Given the description of an element on the screen output the (x, y) to click on. 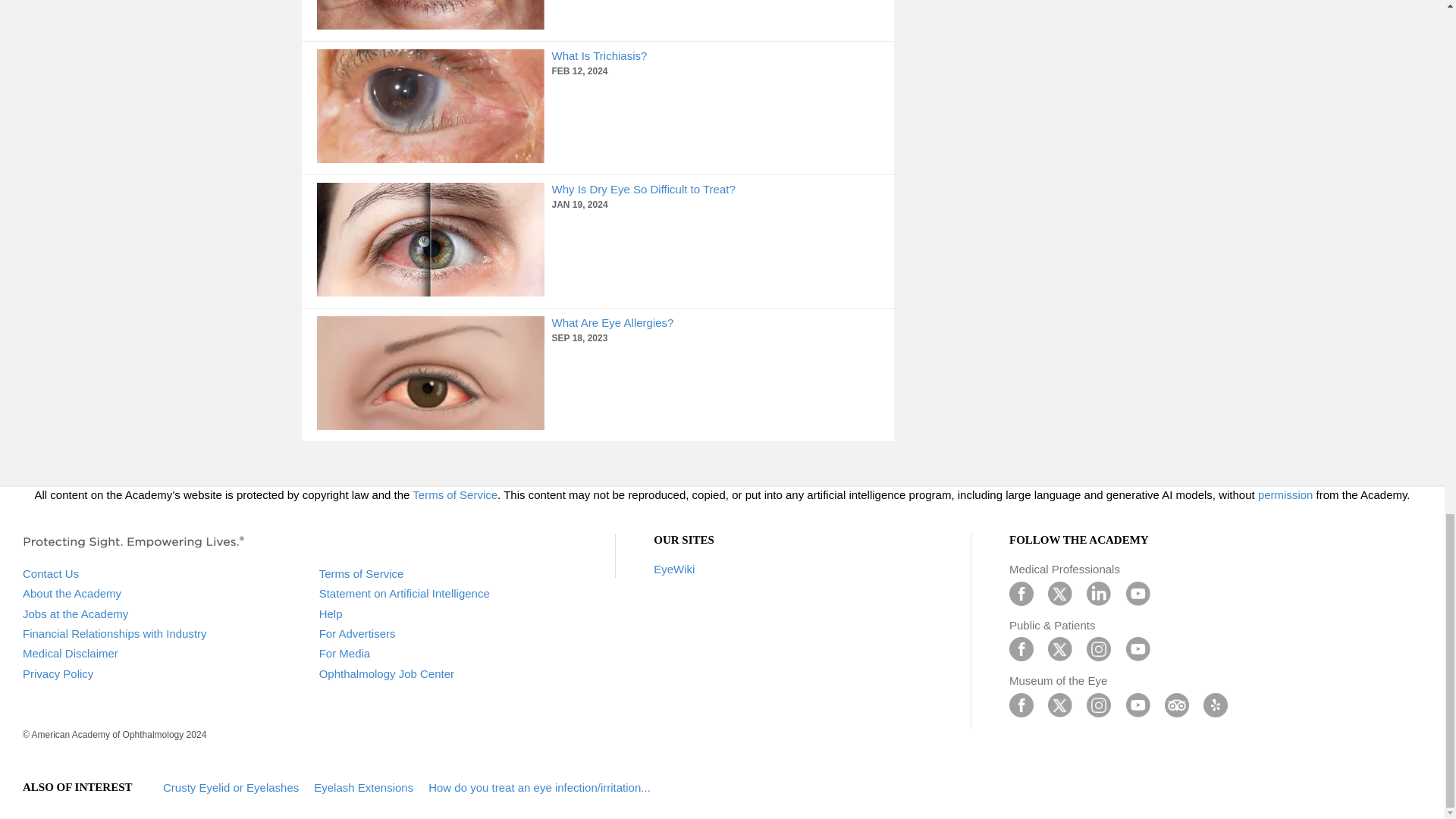
YouTube (1137, 592)
Yelp (1215, 703)
YouTube (1137, 703)
Facebook (1021, 647)
Twitter (1059, 592)
Twitter (1059, 703)
Instagram (1098, 703)
Instagram (1098, 647)
Facebook (1021, 592)
LinkedIn (1098, 592)
